Given the description of an element on the screen output the (x, y) to click on. 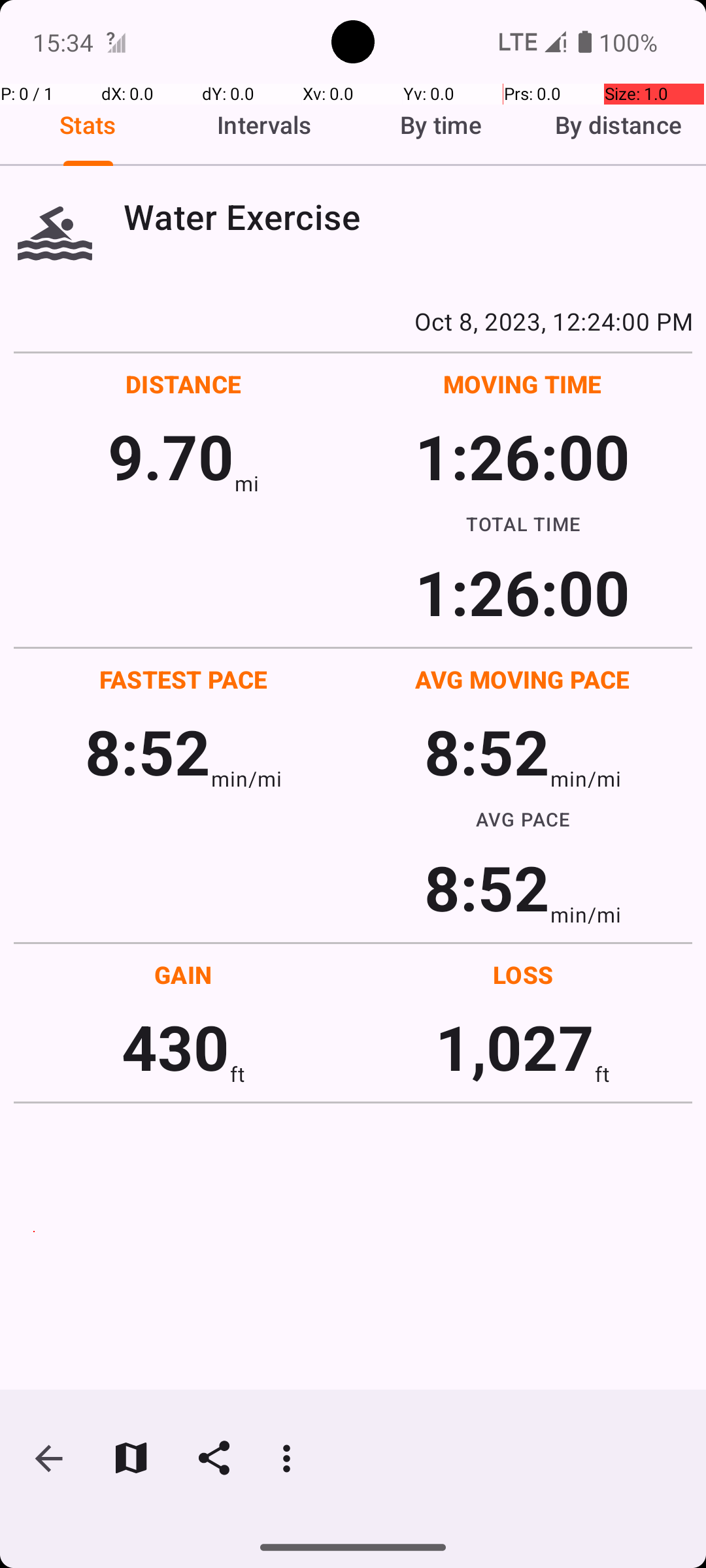
Water Exercise Element type: android.widget.TextView (407, 216)
Oct 8, 2023, 12:24:00 PM Element type: android.widget.TextView (352, 320)
9.70 Element type: android.widget.TextView (170, 455)
1:26:00 Element type: android.widget.TextView (522, 455)
8:52 Element type: android.widget.TextView (147, 750)
430 Element type: android.widget.TextView (175, 1045)
1,027 Element type: android.widget.TextView (514, 1045)
